Given the description of an element on the screen output the (x, y) to click on. 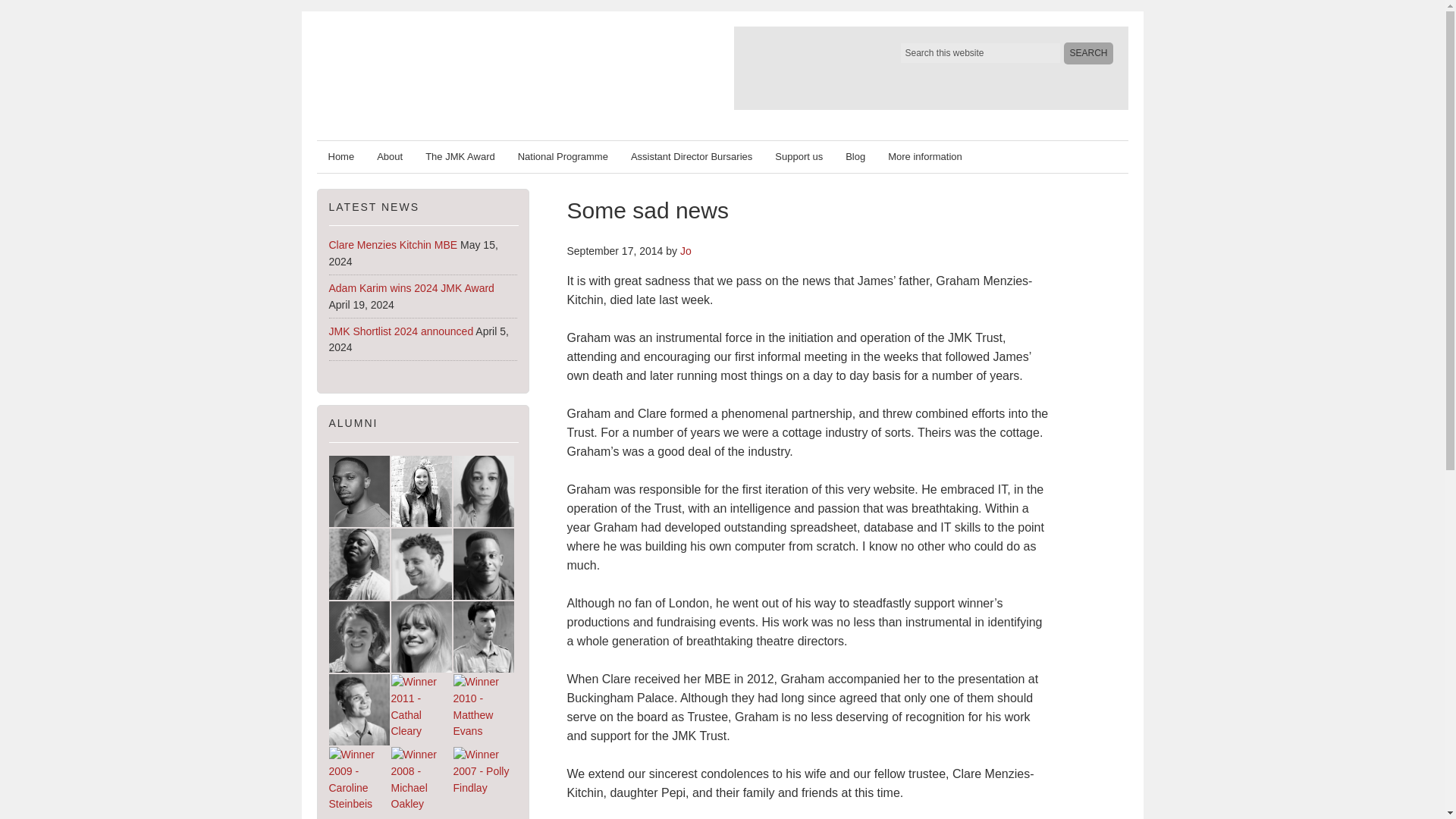
Search (1088, 53)
The JMK Award (459, 156)
Support us (798, 156)
About (389, 156)
Search (1088, 53)
More information (925, 156)
Blog (855, 156)
Jo (685, 250)
The JMK Trust (493, 67)
Search (1088, 53)
